Given the description of an element on the screen output the (x, y) to click on. 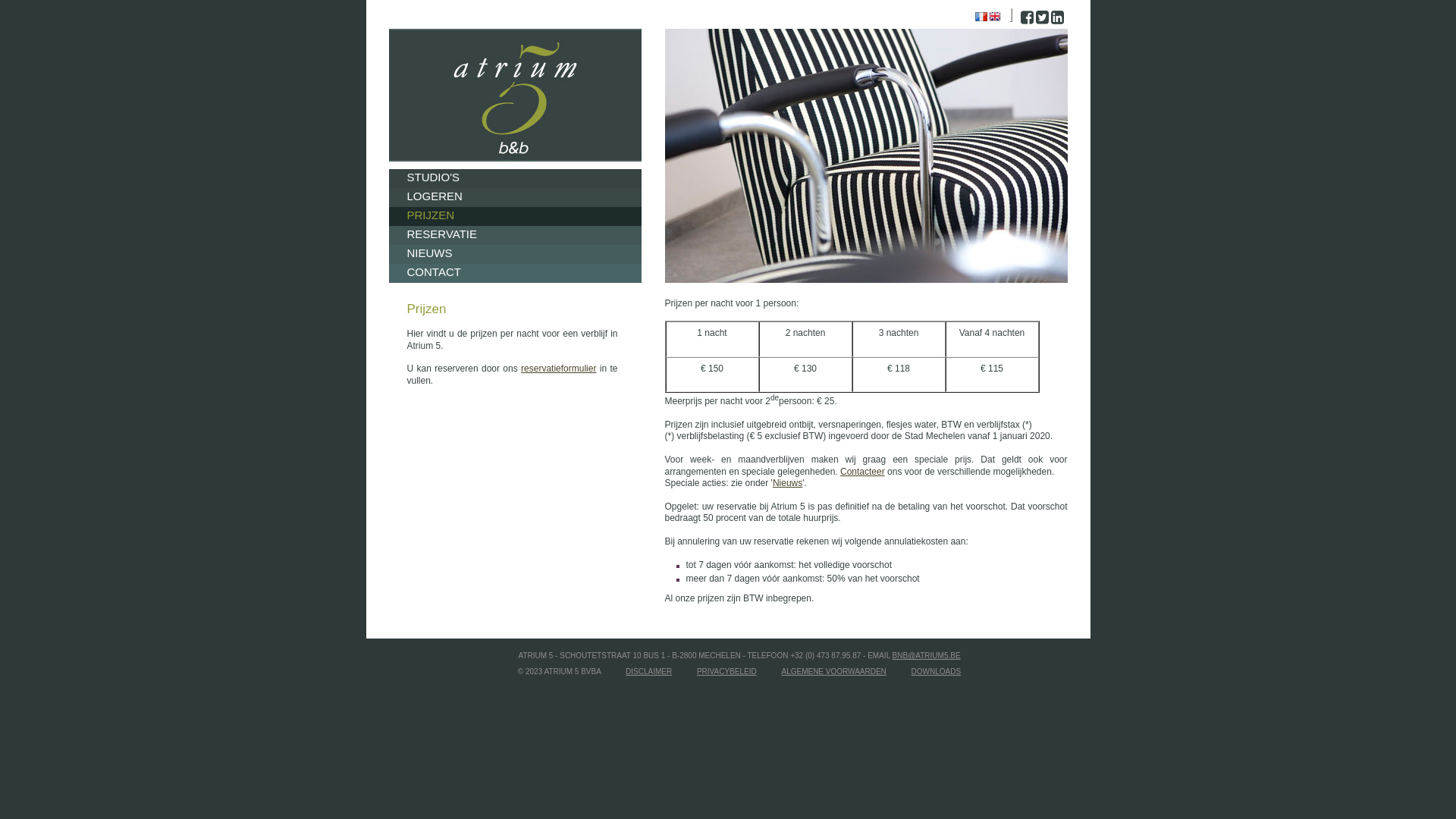
PRIJZEN Element type: text (514, 216)
NIEUWS Element type: text (514, 253)
Delen op Facebook Element type: hover (1026, 19)
Delen op Twitter Element type: hover (1041, 19)
Delen op LinkedIn Element type: hover (1057, 19)
Contacteer Element type: text (862, 471)
DOWNLOADS Element type: text (936, 671)
BNB@ATRIUM5.BE Element type: text (926, 655)
DISCLAIMER Element type: text (648, 671)
Home page Atrium 5 Element type: hover (514, 94)
CONTACT Element type: text (514, 272)
Nieuws Element type: text (787, 482)
STUDIO'S Element type: text (514, 178)
English Element type: hover (994, 16)
LOGEREN Element type: text (514, 197)
reservatieformulier Element type: text (558, 368)
ALGEMENE VOORWAARDEN Element type: text (833, 671)
PRIVACYBELEID Element type: text (726, 671)
RESERVATIE Element type: text (514, 234)
